Given the description of an element on the screen output the (x, y) to click on. 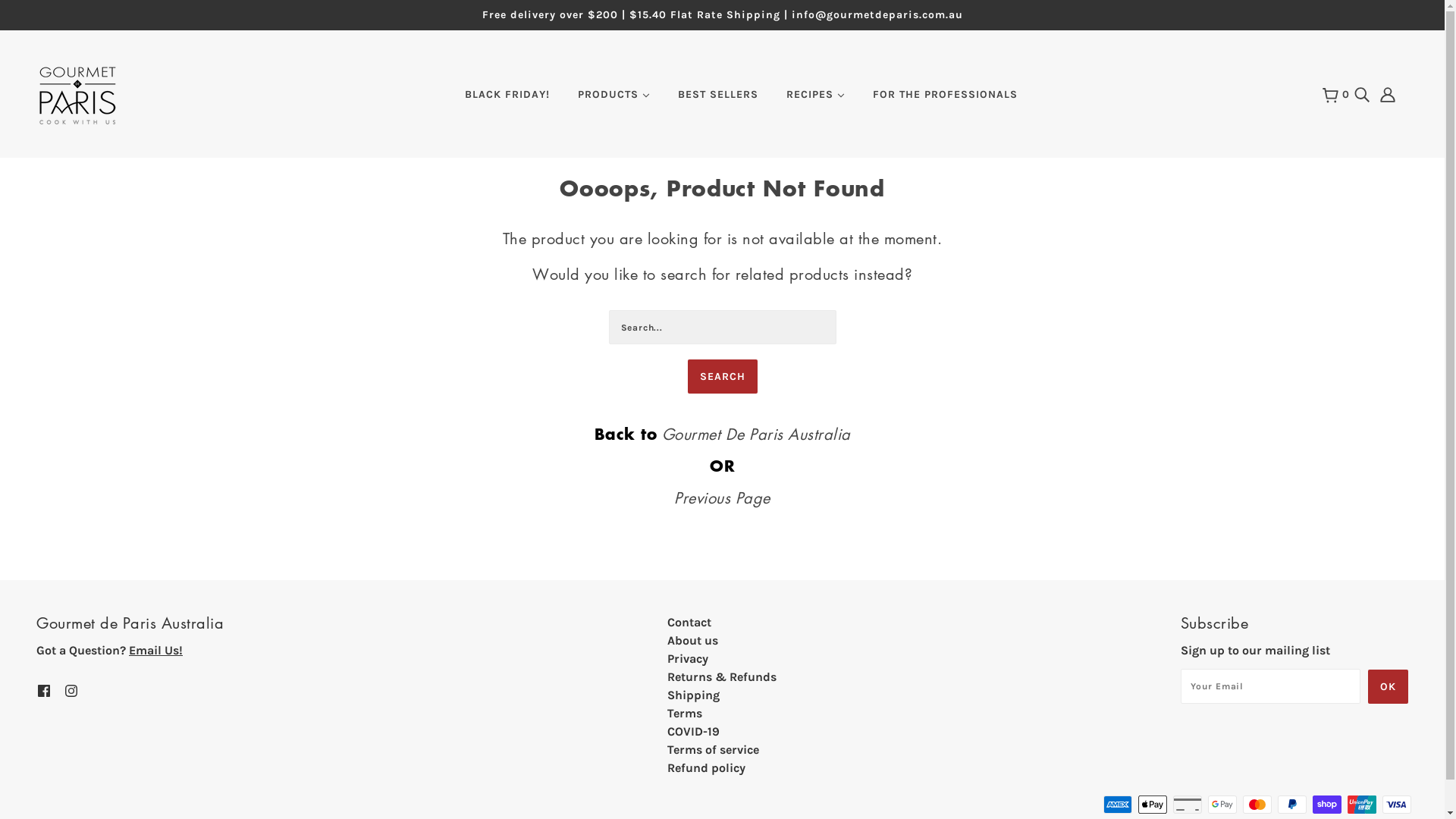
Ok Element type: text (1388, 686)
Previous Page Element type: text (722, 497)
About us Element type: text (692, 640)
Shipping Element type: text (693, 694)
BEST SELLERS Element type: text (717, 100)
Returns & Refunds Element type: text (721, 676)
Terms Element type: text (684, 713)
Terms of service Element type: text (713, 749)
Back to Gourmet De Paris Australia Element type: text (722, 433)
RECIPES Element type: text (815, 100)
Gourmet de Paris | The French Epicerie in Australia Element type: hover (77, 94)
BLACK FRIDAY! Element type: text (506, 100)
Refund policy Element type: text (706, 767)
Privacy Element type: text (687, 658)
PRODUCTS Element type: text (613, 100)
Email Us! Element type: text (155, 650)
FOR THE PROFESSIONALS Element type: text (944, 100)
Search Element type: text (721, 376)
Contact Element type: text (689, 622)
COVID-19 Element type: text (693, 731)
0 Element type: text (1335, 94)
